Given the description of an element on the screen output the (x, y) to click on. 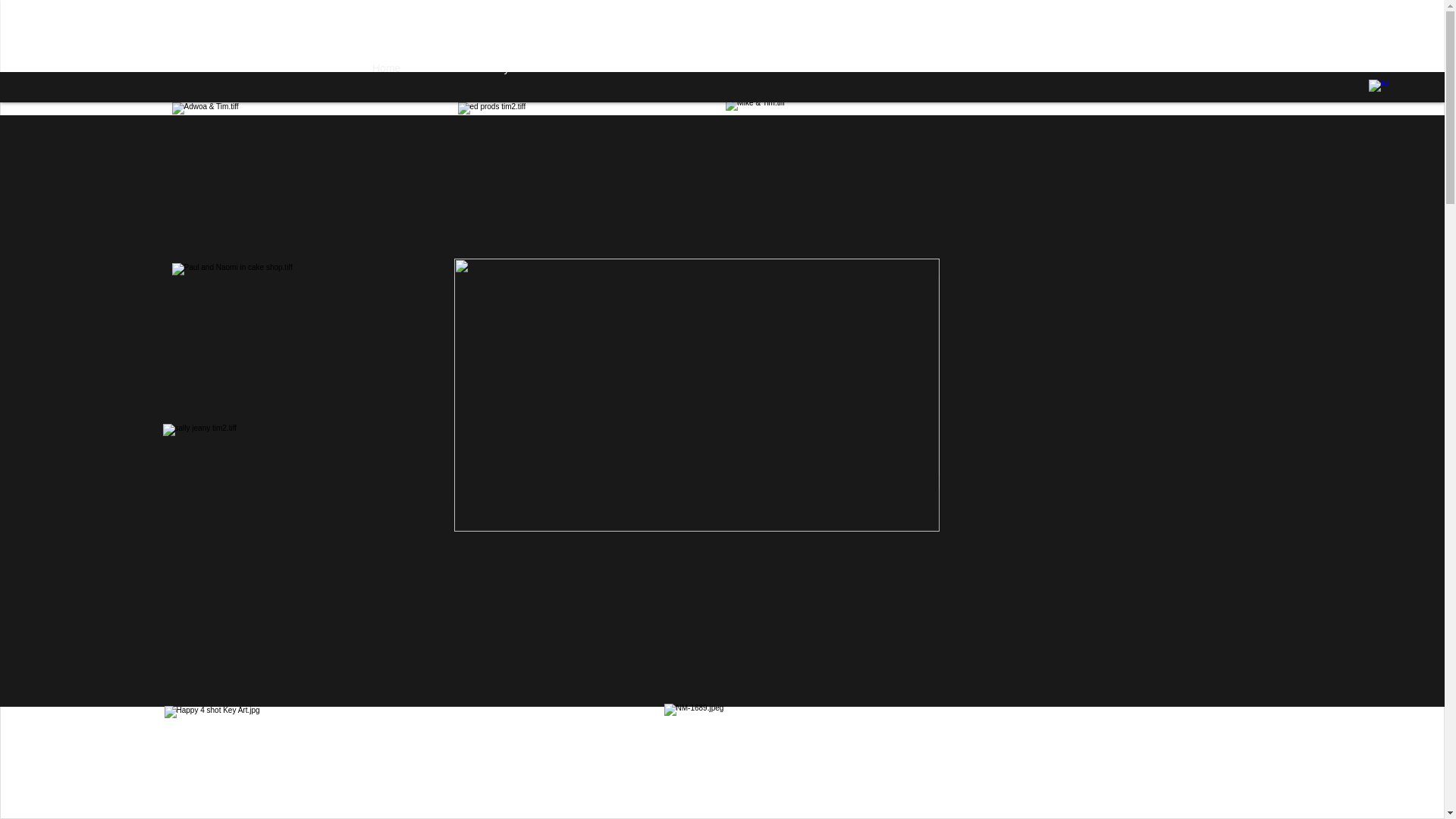
Home (386, 67)
HAPLESS (764, 67)
Video Reviews (838, 67)
Video Player (488, 67)
About (429, 67)
Contact (906, 67)
